Given the description of an element on the screen output the (x, y) to click on. 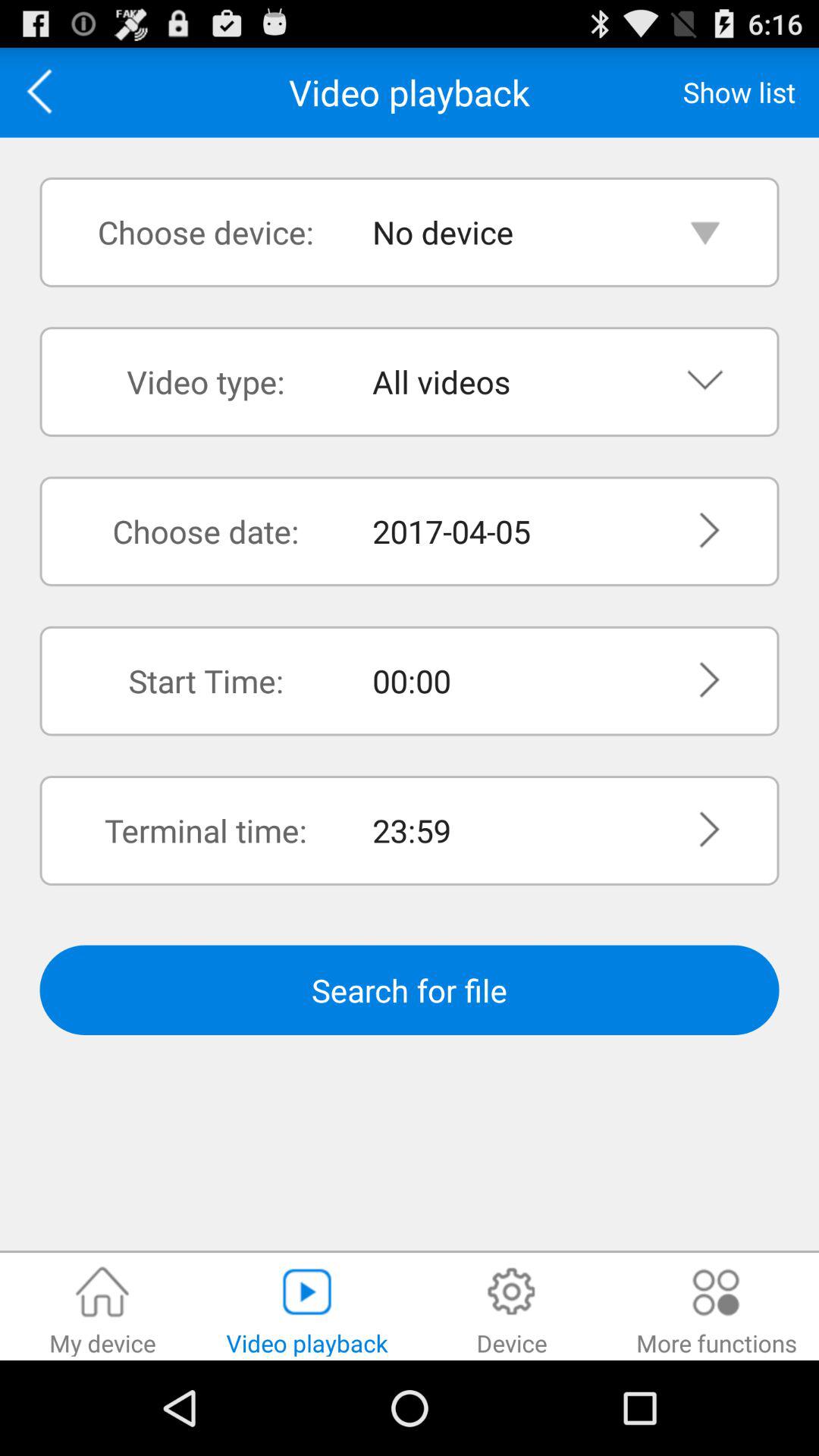
jump to search for file item (409, 990)
